Given the description of an element on the screen output the (x, y) to click on. 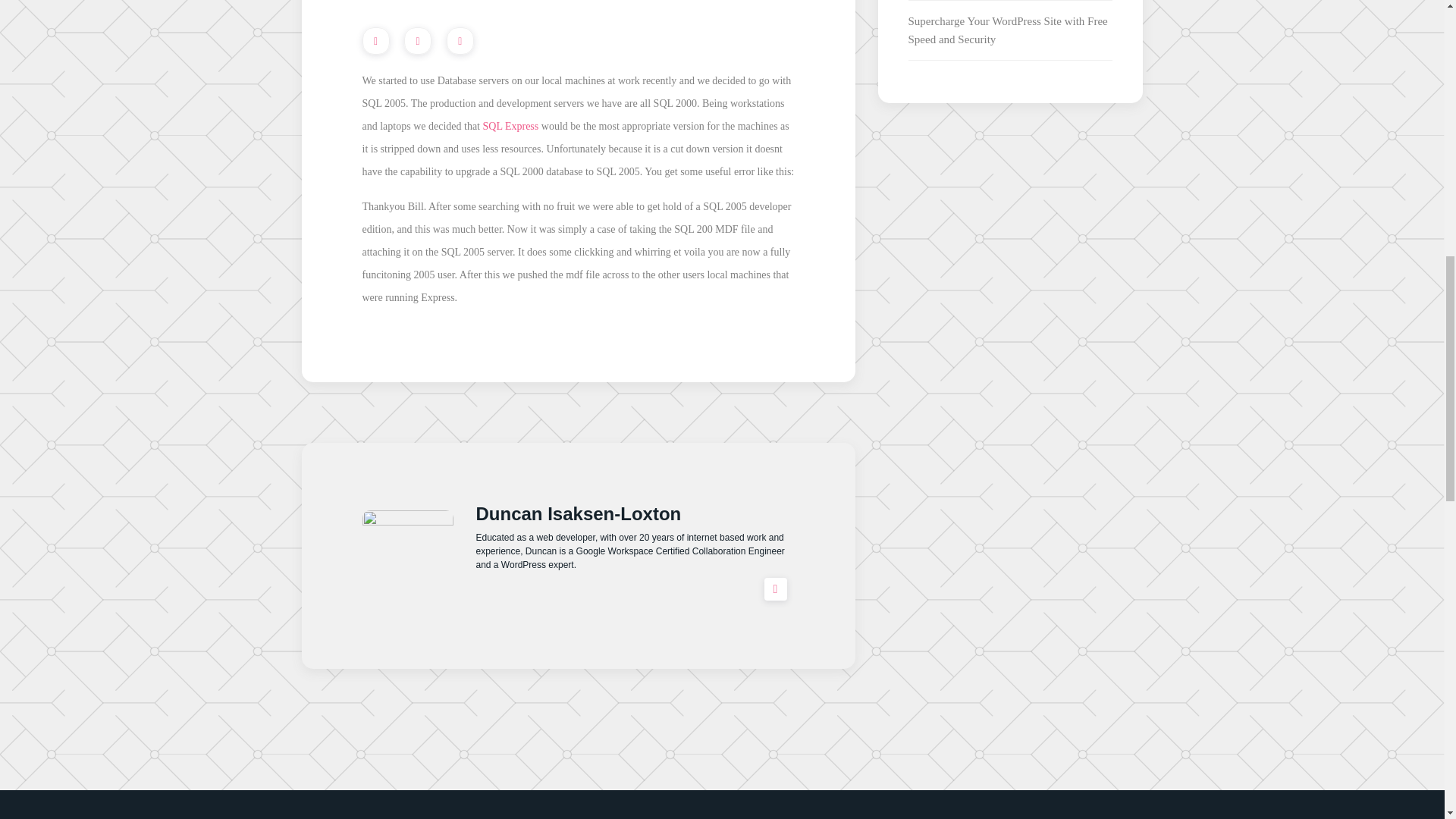
SQL 2005 Express (510, 125)
Duncan Isaksen-Loxton (578, 513)
SQL Express (510, 125)
